Given the description of an element on the screen output the (x, y) to click on. 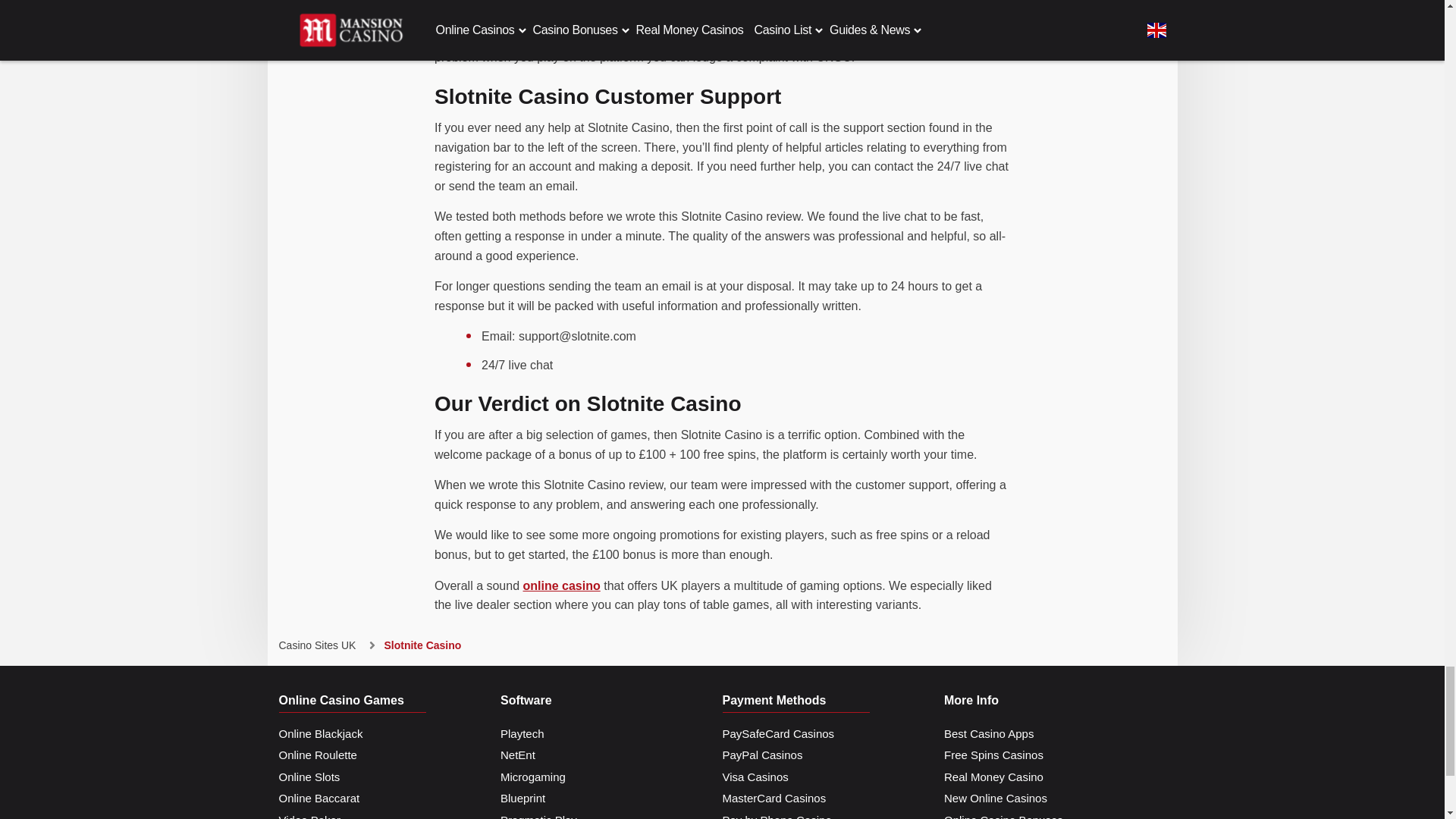
Pay by Phone Casino (776, 814)
PayPal Casinos (762, 755)
MasterCard Casinos (773, 798)
Real Money Casino (993, 777)
PaySafeCard Casinos (778, 734)
Visa Casinos (754, 777)
